Given the description of an element on the screen output the (x, y) to click on. 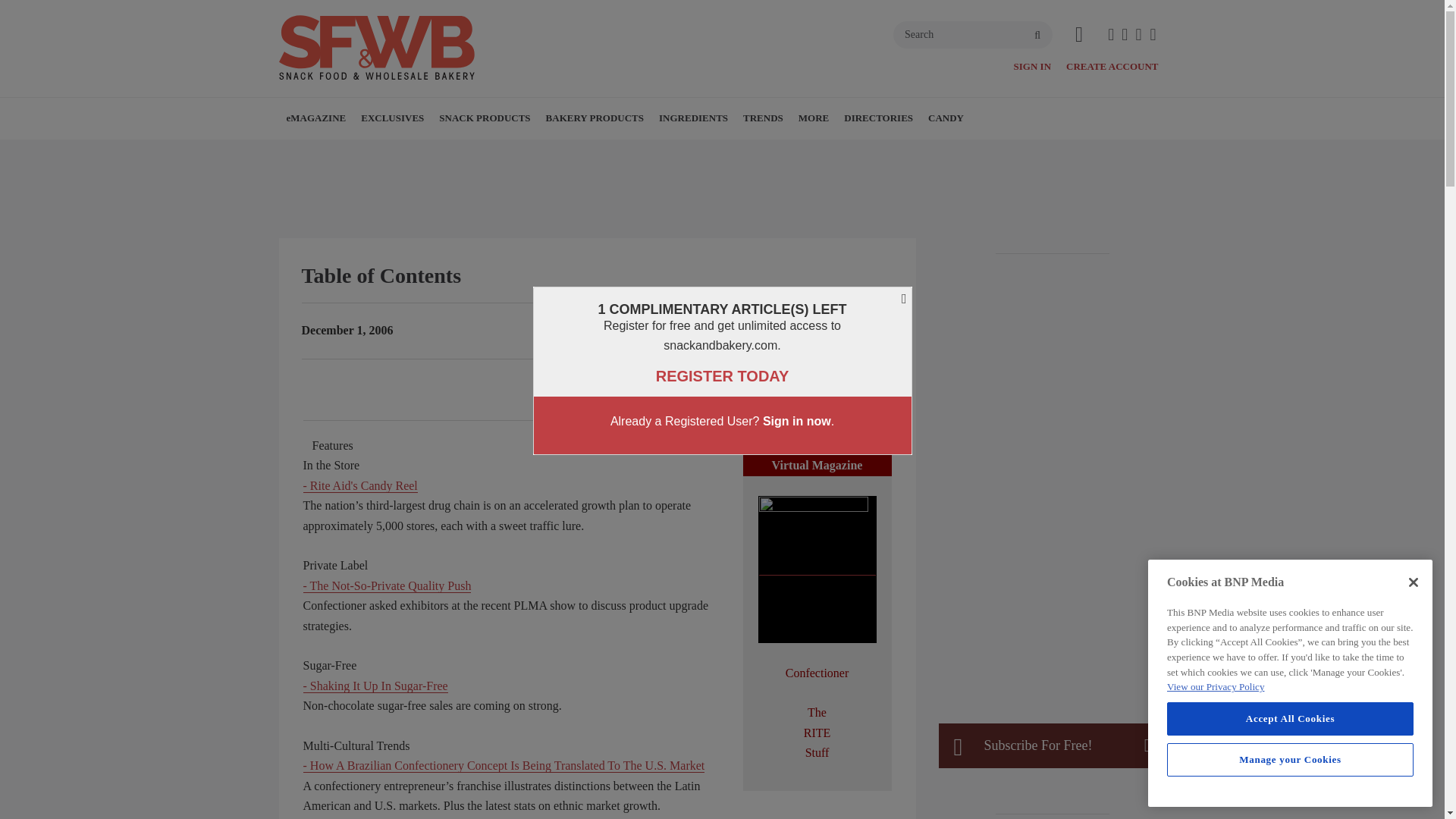
Search (972, 34)
Search (972, 34)
